Given the description of an element on the screen output the (x, y) to click on. 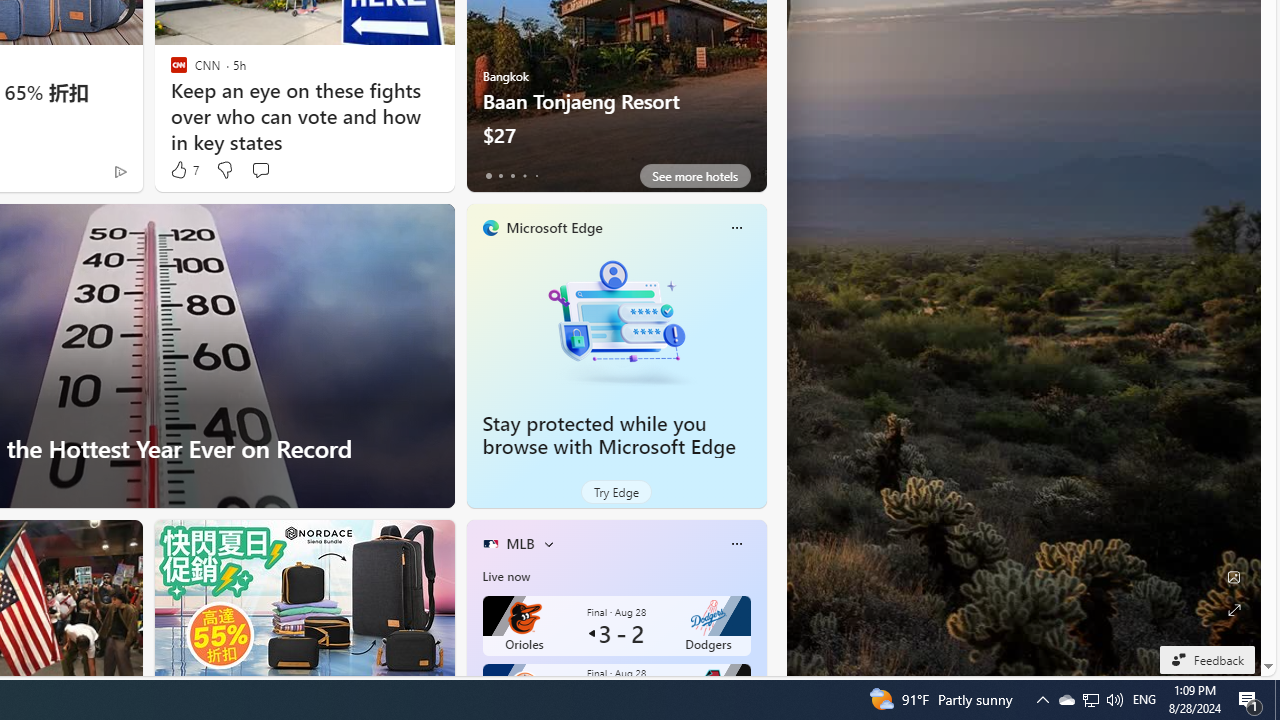
tab-2 (511, 175)
Stay protected while you browse with Microsoft Edge (609, 435)
Class: icon-img (736, 543)
MLB (520, 543)
More interests (548, 543)
More options (736, 543)
Start the conversation (260, 169)
Start the conversation (260, 170)
Expand background (1233, 610)
